Given the description of an element on the screen output the (x, y) to click on. 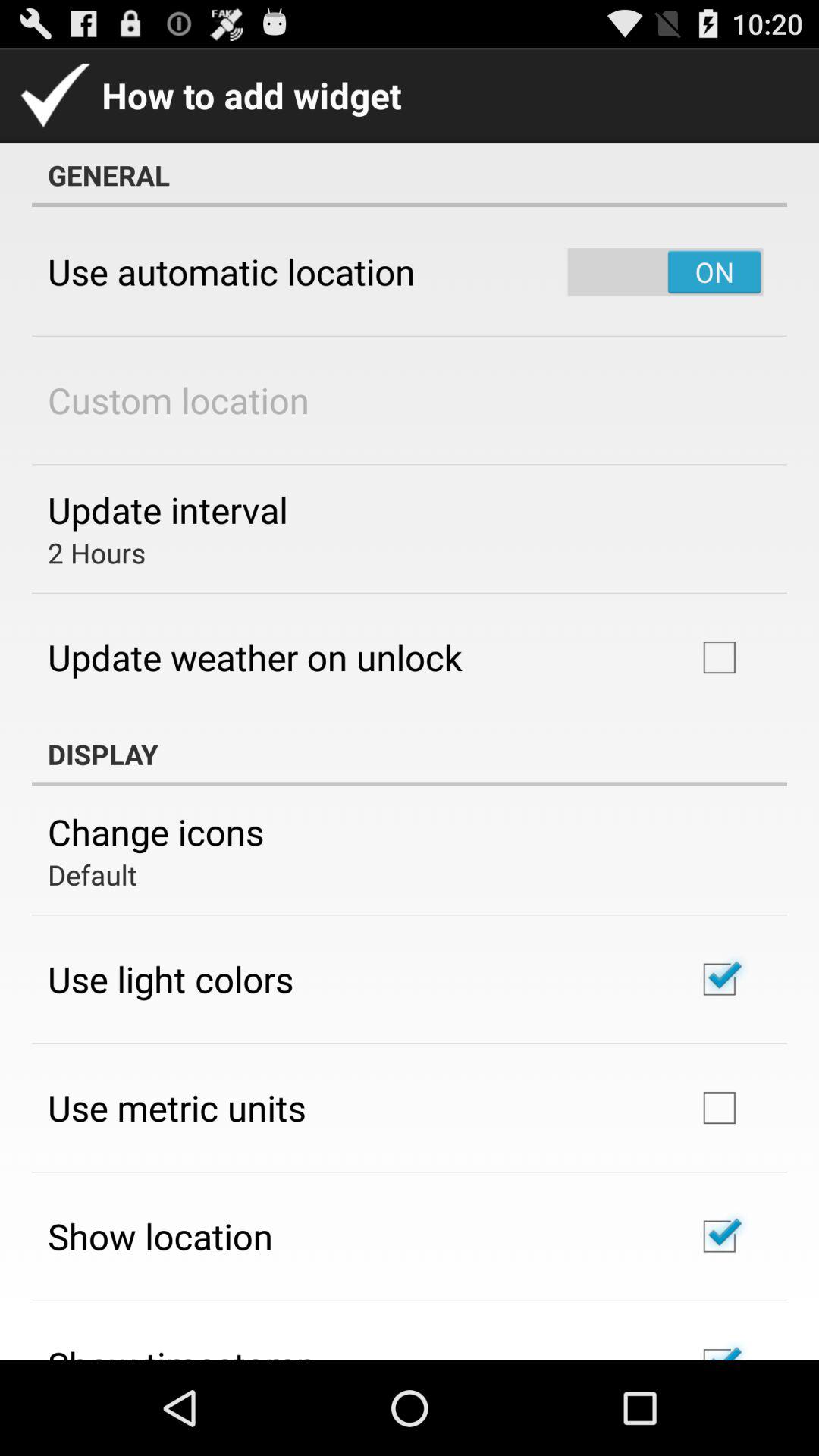
scroll to the how to add (208, 95)
